Given the description of an element on the screen output the (x, y) to click on. 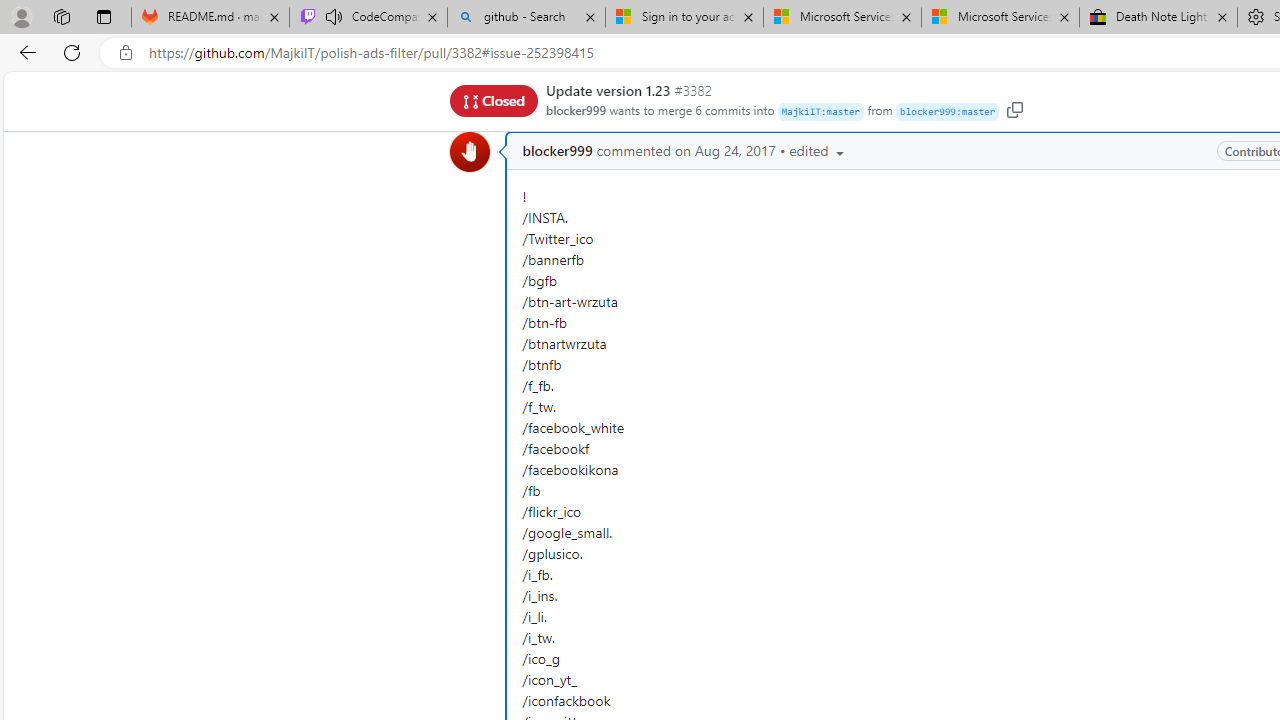
 Commits 6 (687, 95)
MajkiIT : master (820, 111)
github - Search (526, 17)
Sign in to your account (683, 17)
on Aug 24, 2017 (724, 151)
